Given the description of an element on the screen output the (x, y) to click on. 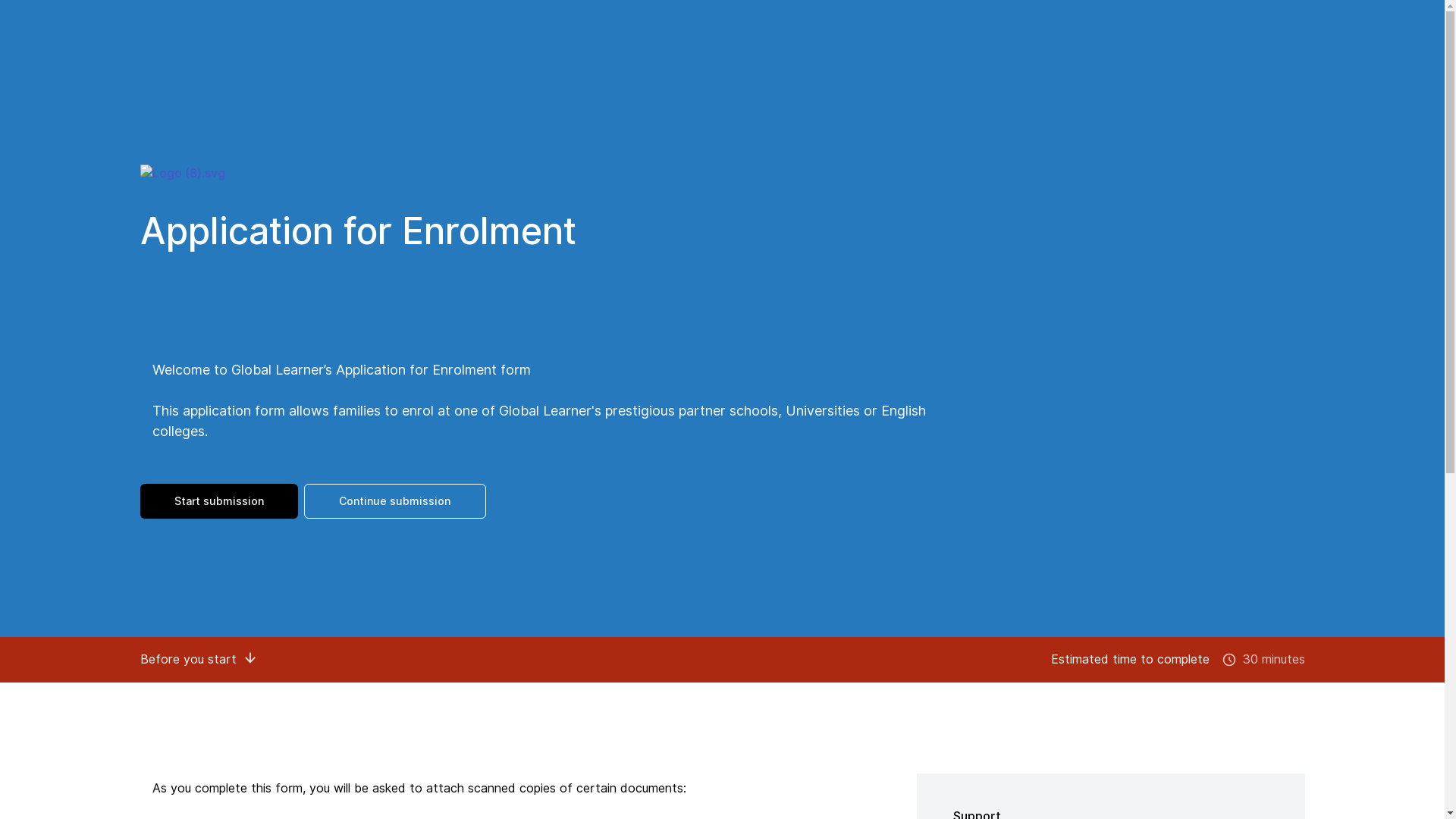
Start submission Element type: text (218, 500)
Continue submission Element type: text (394, 500)
